Given the description of an element on the screen output the (x, y) to click on. 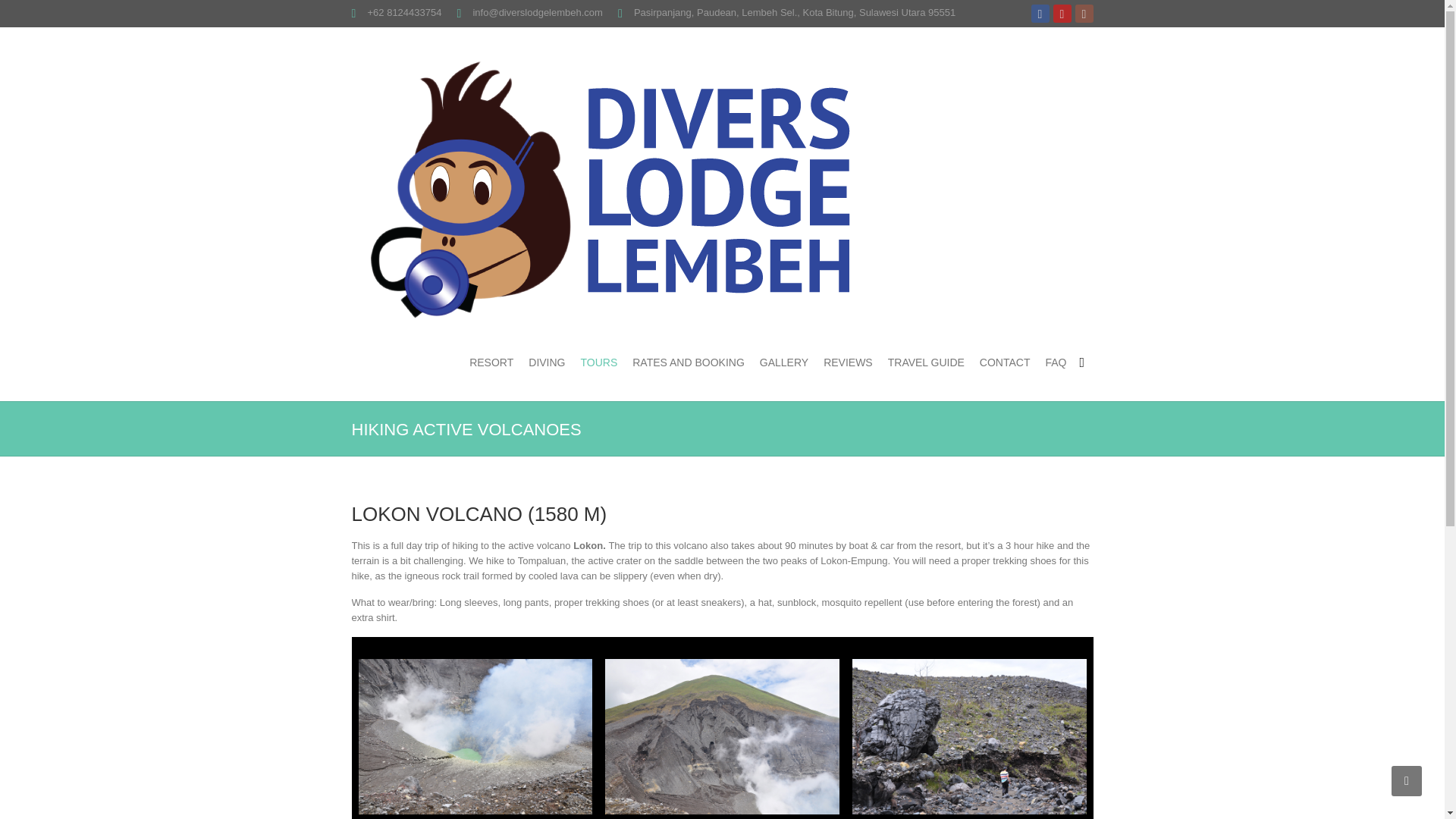
Divers Lodge Lembeh on Facebook (1039, 13)
Divers Lodge Lembeh on Instagram (1084, 13)
Easy booking, prices and payment (687, 363)
TRAVEL GUIDE (925, 363)
RATES AND BOOKING (687, 363)
 Call Us  (403, 12)
Divers Lodge Lembeh on Youtube (1061, 13)
 Mail Us  (536, 12)
